Given the description of an element on the screen output the (x, y) to click on. 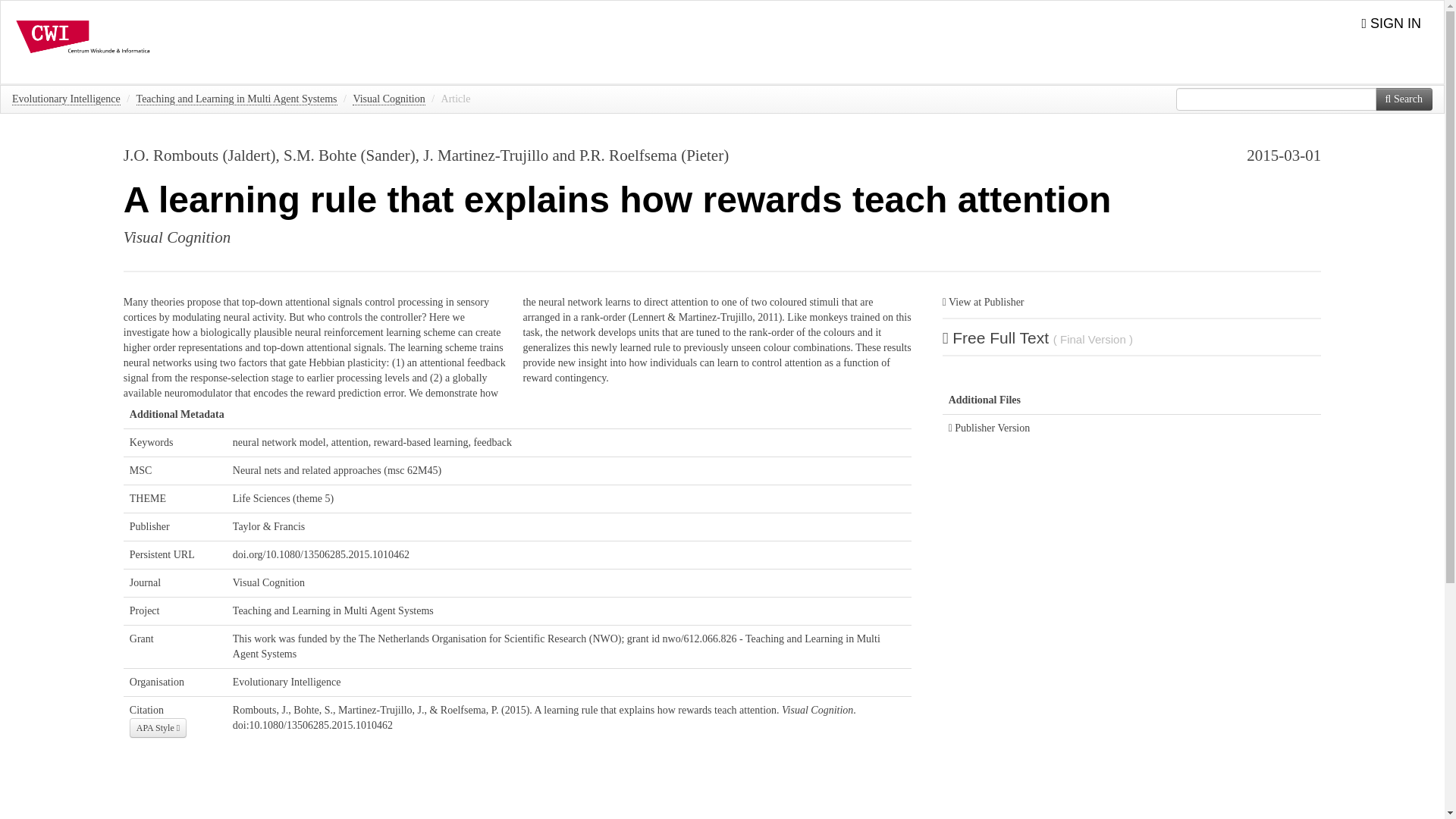
Evolutionary Intelligence (65, 99)
View at Publisher (983, 301)
Publisher Version (992, 428)
Visual Cognition (176, 237)
APA Style (157, 727)
Visual Cognition (268, 582)
Search (1403, 98)
J. Martinez-Trujillo (485, 155)
SIGN IN (1391, 23)
Teaching and Learning in Multi Agent Systems (236, 99)
